Given the description of an element on the screen output the (x, y) to click on. 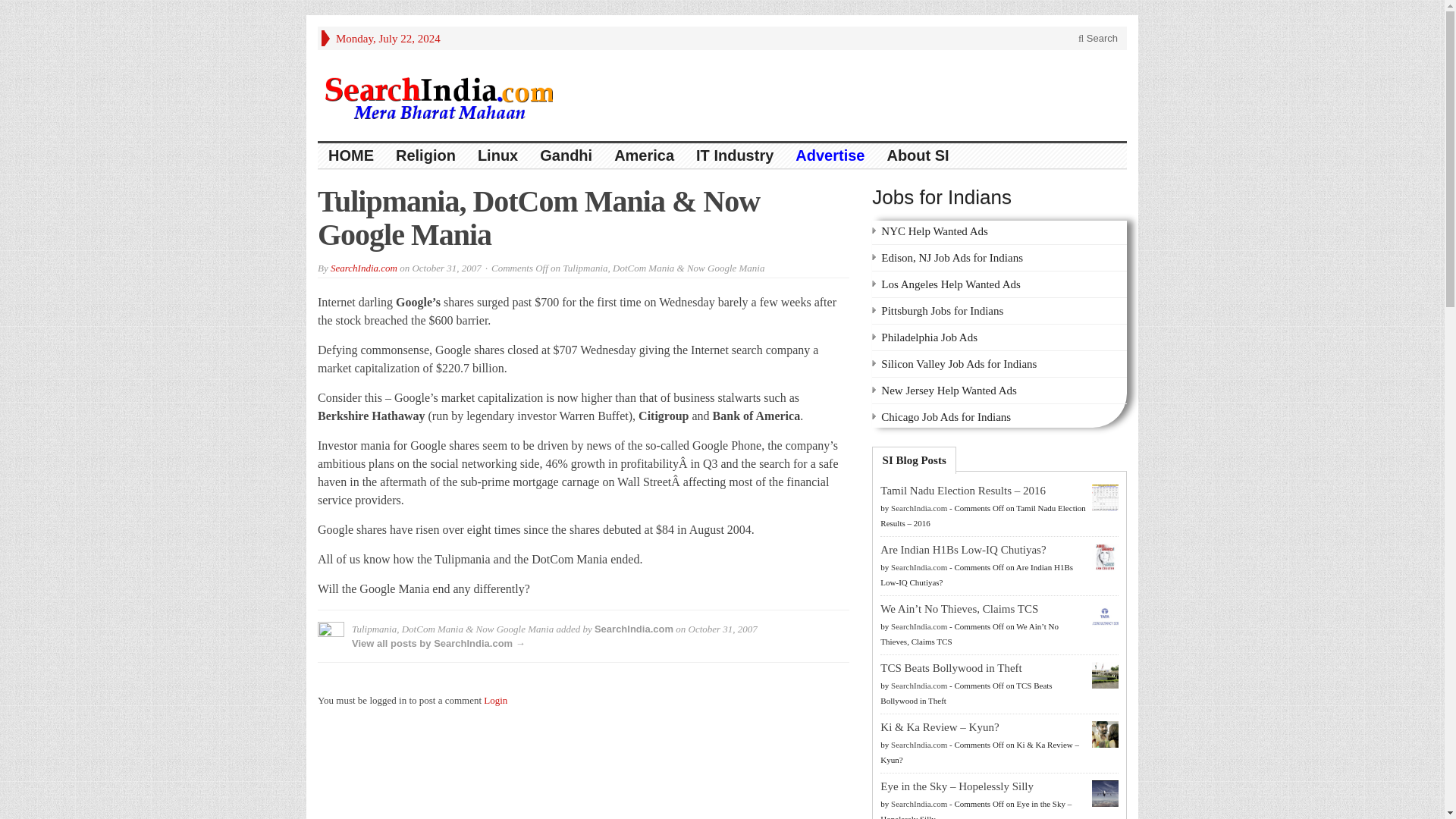
Advertise (830, 155)
Pittsburgh Jobs for Indians (941, 310)
Linux (498, 155)
Posts by SearchIndia.com (919, 625)
Posts by SearchIndia.com (919, 507)
New Jersey Help Wanted Ads (948, 390)
Login (494, 699)
Los Angeles Help Wanted Ads (950, 284)
Philadelphia Job Ads (928, 337)
Posts by SearchIndia.com (919, 566)
Posts by SearchIndia.com (919, 744)
Are Indian H1Bs Low-IQ Chutiyas? (962, 549)
Search (1097, 37)
Chicago Job Ads for Indians (945, 417)
Posts by SearchIndia.com (919, 803)
